Given the description of an element on the screen output the (x, y) to click on. 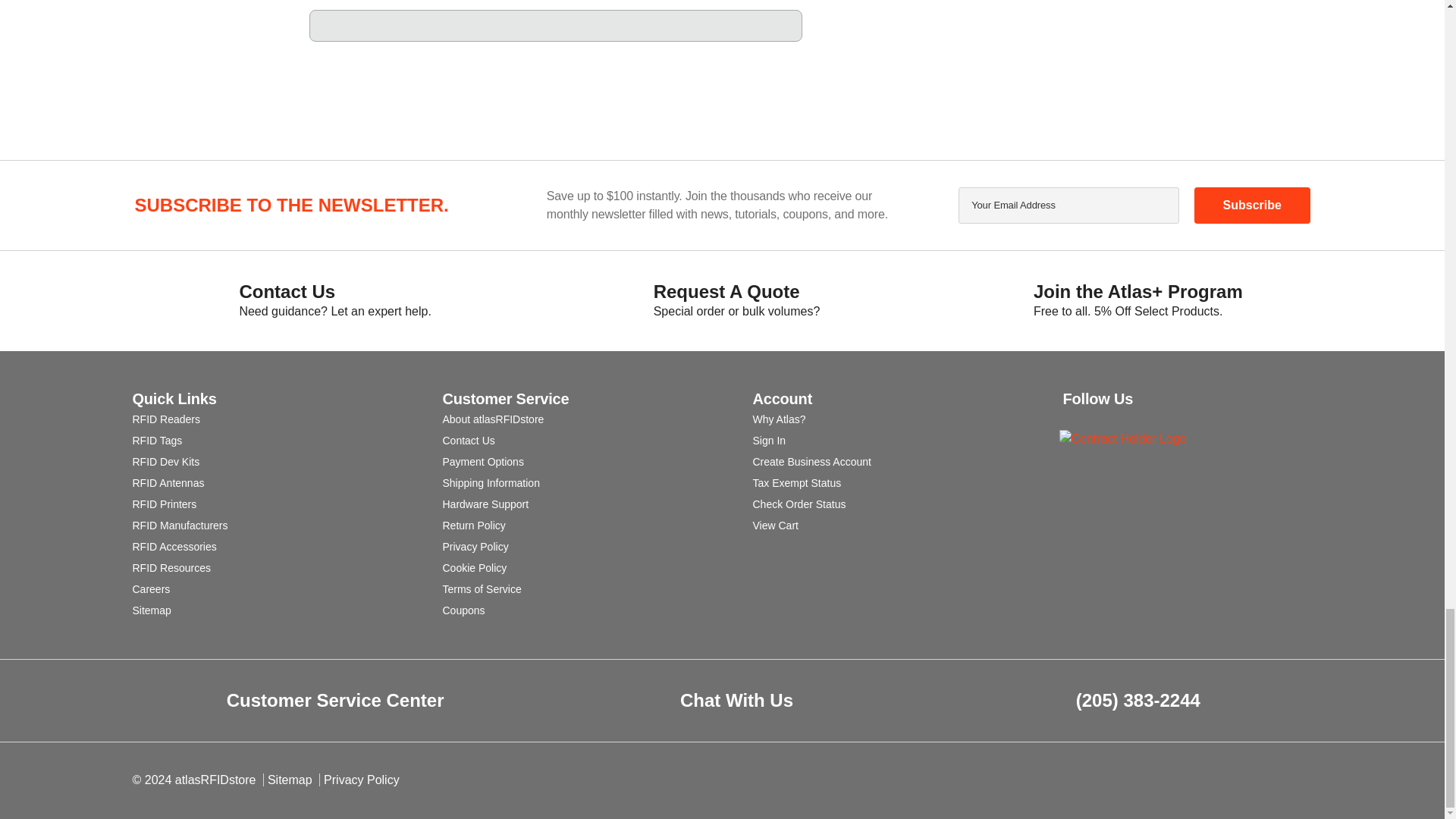
Twitter (1184, 417)
Linkedin (1098, 417)
Subscribe (1250, 205)
Rss (1070, 417)
Facebook (1127, 417)
Youtube (1155, 417)
